Given the description of an element on the screen output the (x, y) to click on. 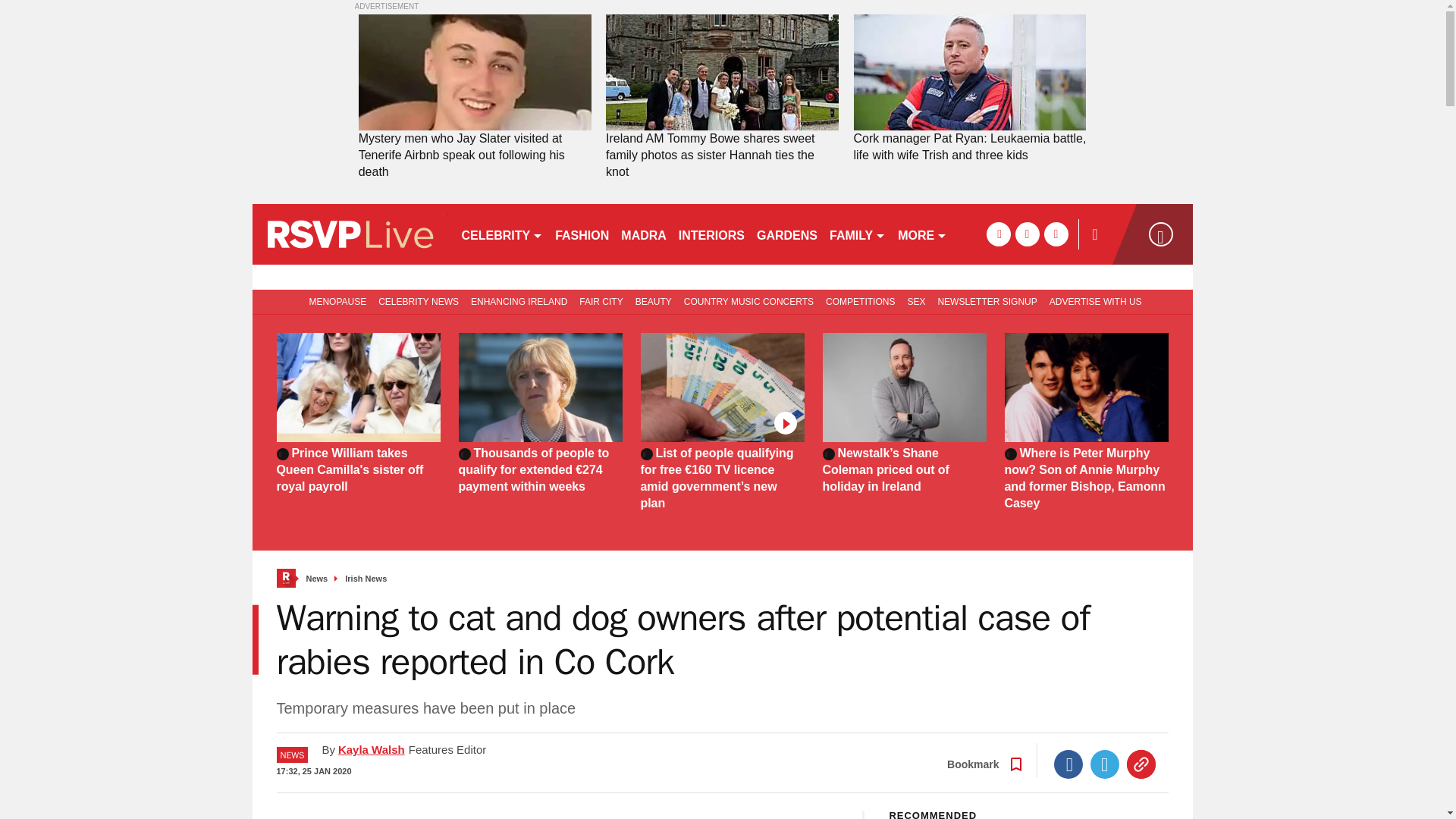
twitter (1026, 233)
MADRA (643, 233)
FAMILY (857, 233)
instagram (1055, 233)
MORE (922, 233)
Twitter (1104, 764)
FASHION (581, 233)
facebook (997, 233)
rsvp (348, 233)
